Given the description of an element on the screen output the (x, y) to click on. 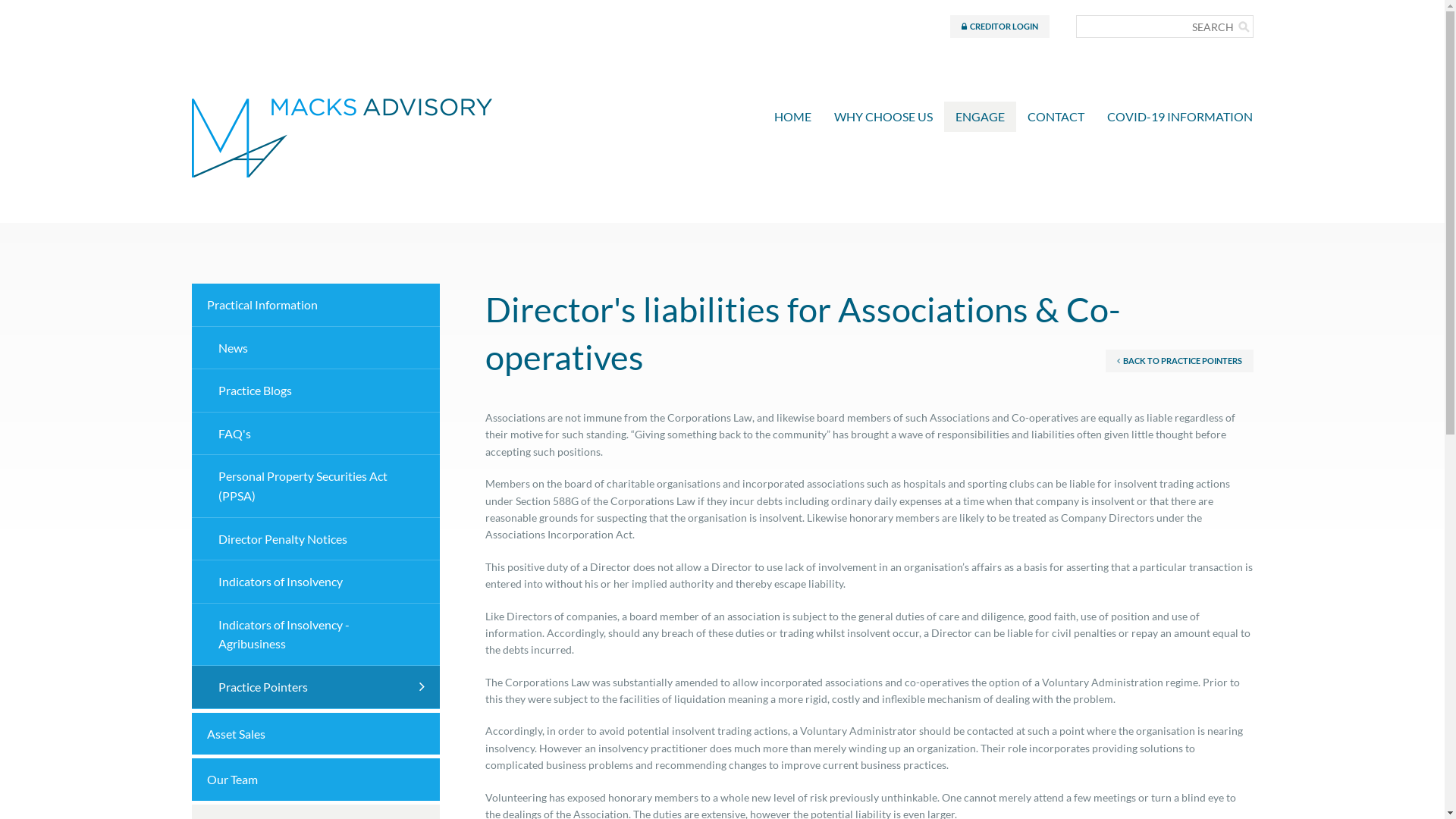
Indicators of Insolvency - Agribusiness Element type: text (315, 634)
Practice Pointers Element type: text (315, 687)
ENGAGE Element type: text (980, 116)
Director Penalty Notices Element type: text (315, 539)
CONTACT Element type: text (1055, 116)
  BACK TO PRACTICE POINTERS Element type: text (1179, 360)
News Element type: text (315, 348)
Indicators of Insolvency Element type: text (315, 581)
Macks Advisory - Adelaide Element type: hover (341, 109)
Practice Blogs Element type: text (315, 390)
Practical Information Element type: text (315, 304)
COVID-19 INFORMATION Element type: text (1179, 116)
Asset Sales Element type: text (315, 733)
HOME Element type: text (792, 116)
  CREDITOR LOGIN Element type: text (998, 26)
FAQ's Element type: text (315, 433)
Our Team Element type: text (315, 779)
Personal Property Securities Act (PPSA) Element type: text (315, 486)
